Given the description of an element on the screen output the (x, y) to click on. 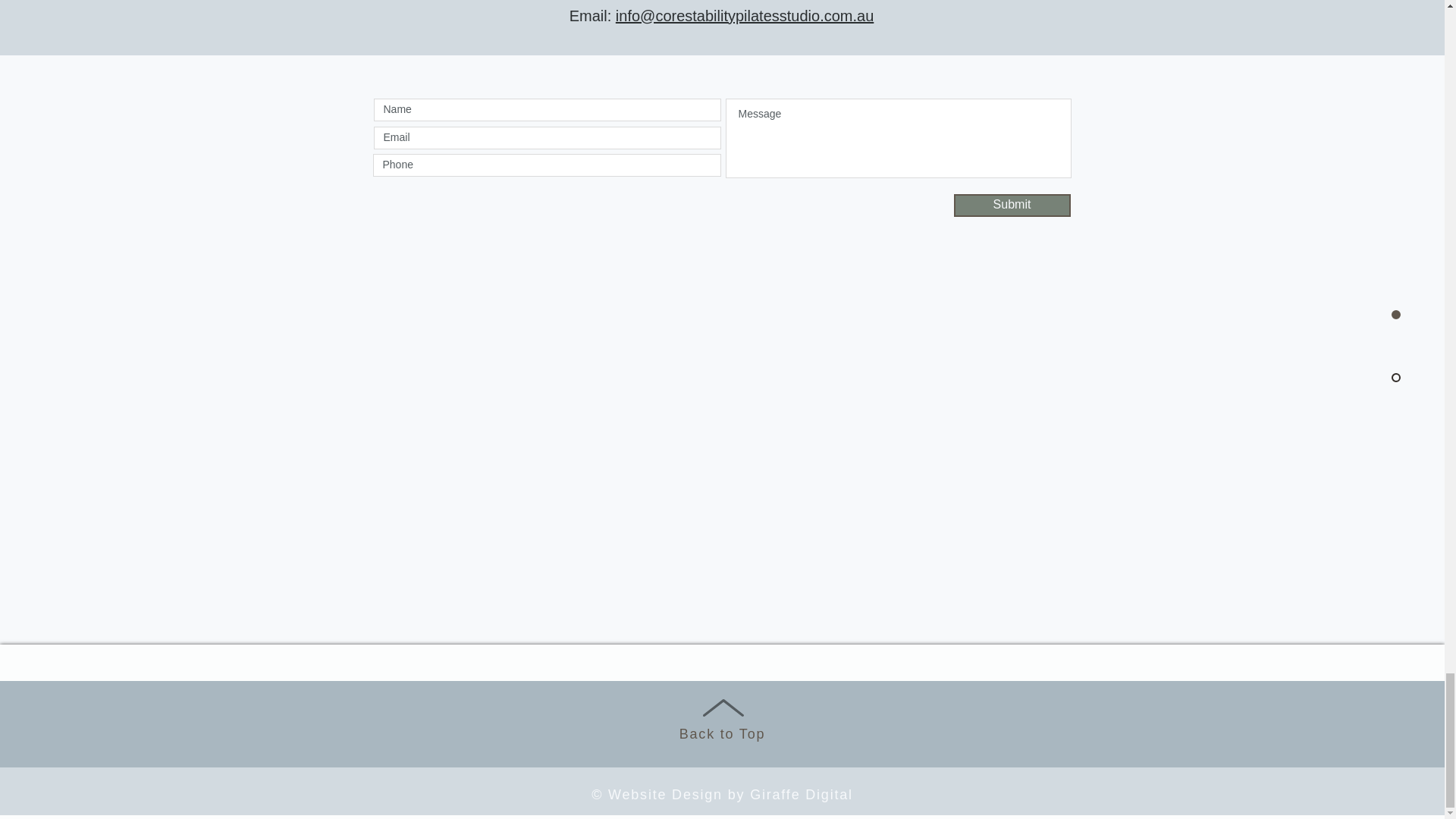
Back to Top (722, 734)
Submit (1011, 205)
